Given the description of an element on the screen output the (x, y) to click on. 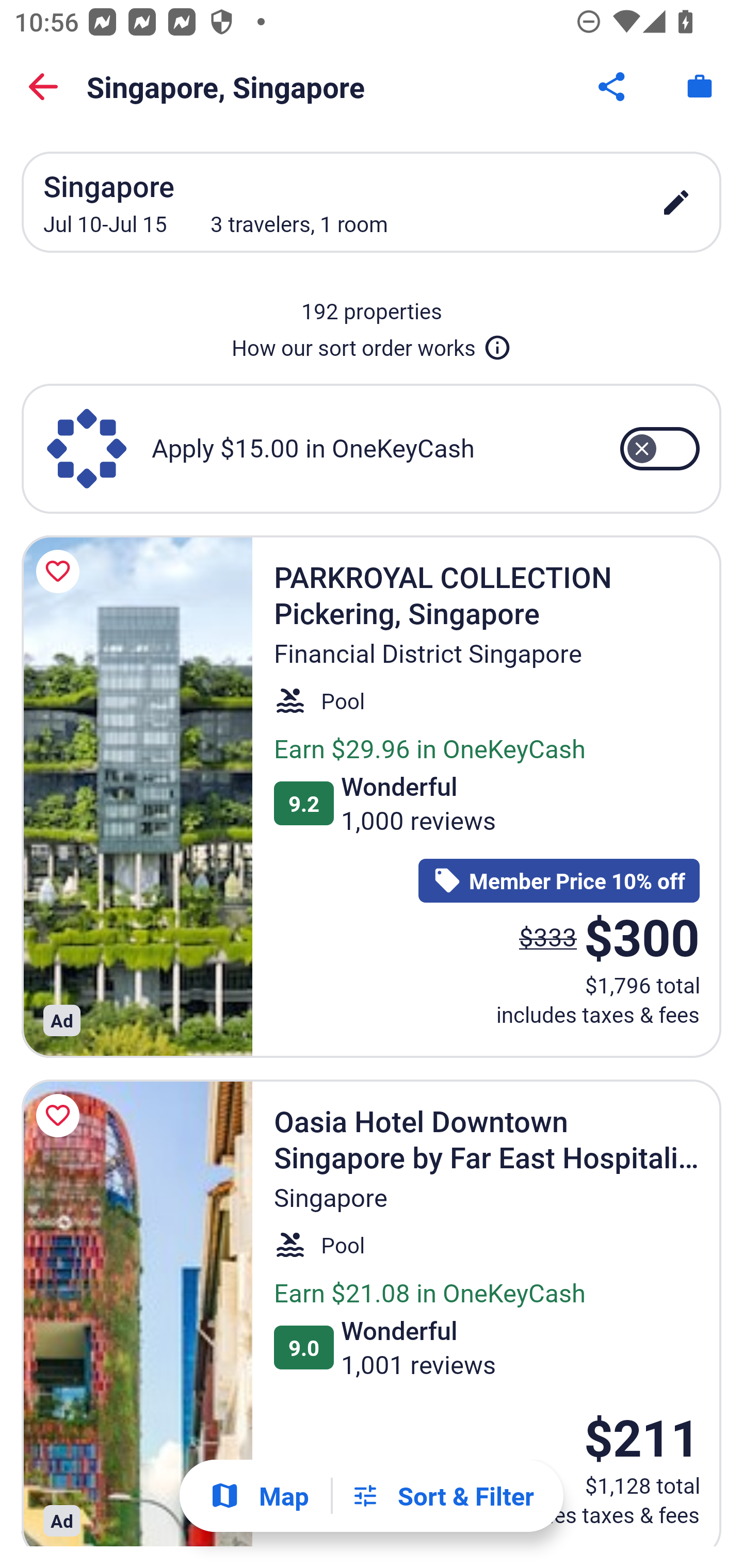
Back (43, 86)
Share Button (612, 86)
Trips. Button (699, 86)
Singapore Jul 10-Jul 15 3 travelers, 1 room edit (371, 202)
How our sort order works (371, 344)
PARKROYAL COLLECTION Pickering, Singapore (136, 796)
$333 The price was $333 (547, 936)
Filters Sort & Filter Filters Button (442, 1495)
Show map Map Show map Button (258, 1495)
